Given the description of an element on the screen output the (x, y) to click on. 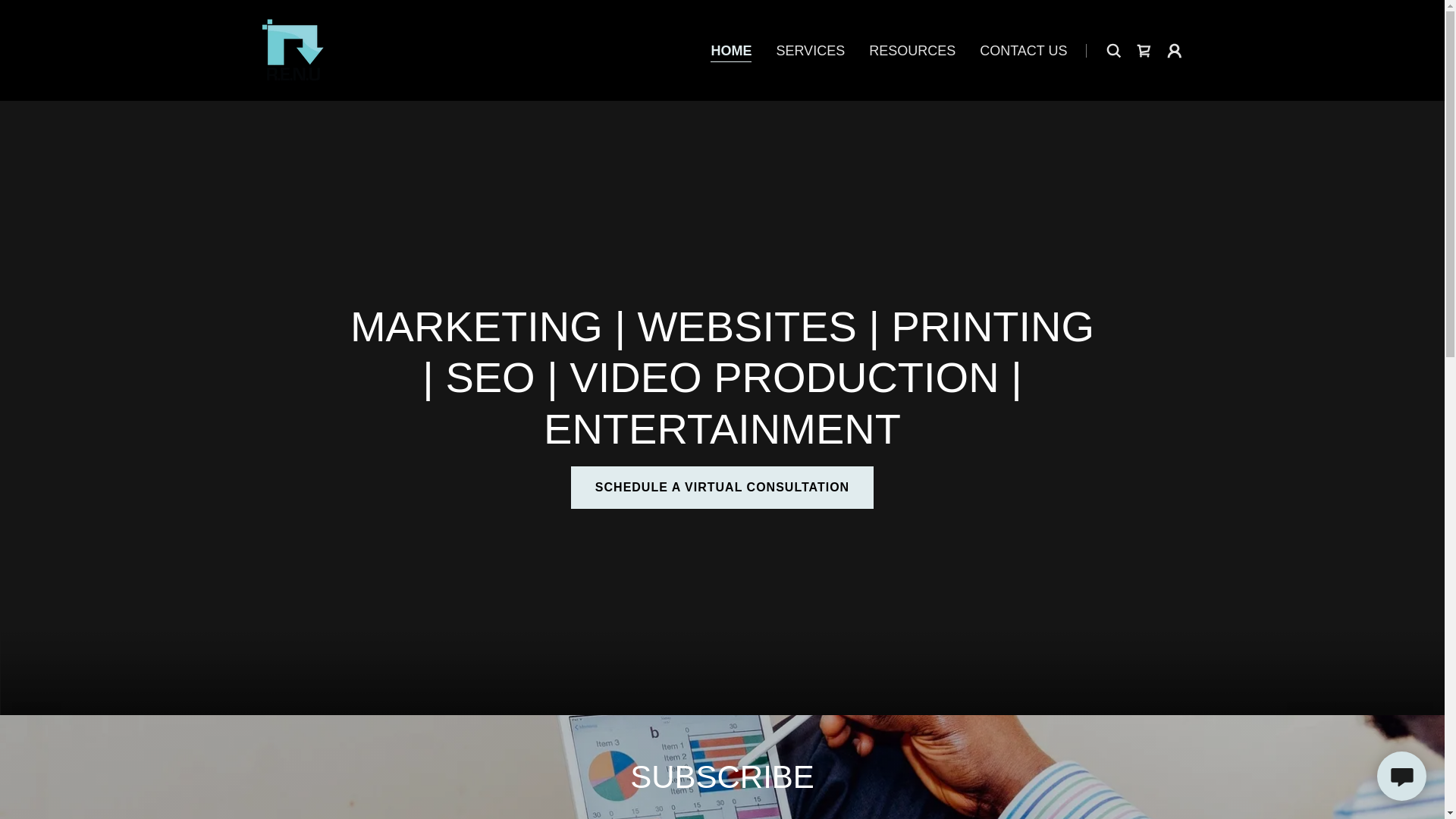
RESOURCES (911, 49)
RENU Multi Media (292, 48)
SERVICES (809, 49)
HOME (730, 50)
CONTACT US (1023, 49)
SCHEDULE A VIRTUAL CONSULTATION (721, 487)
